Given the description of an element on the screen output the (x, y) to click on. 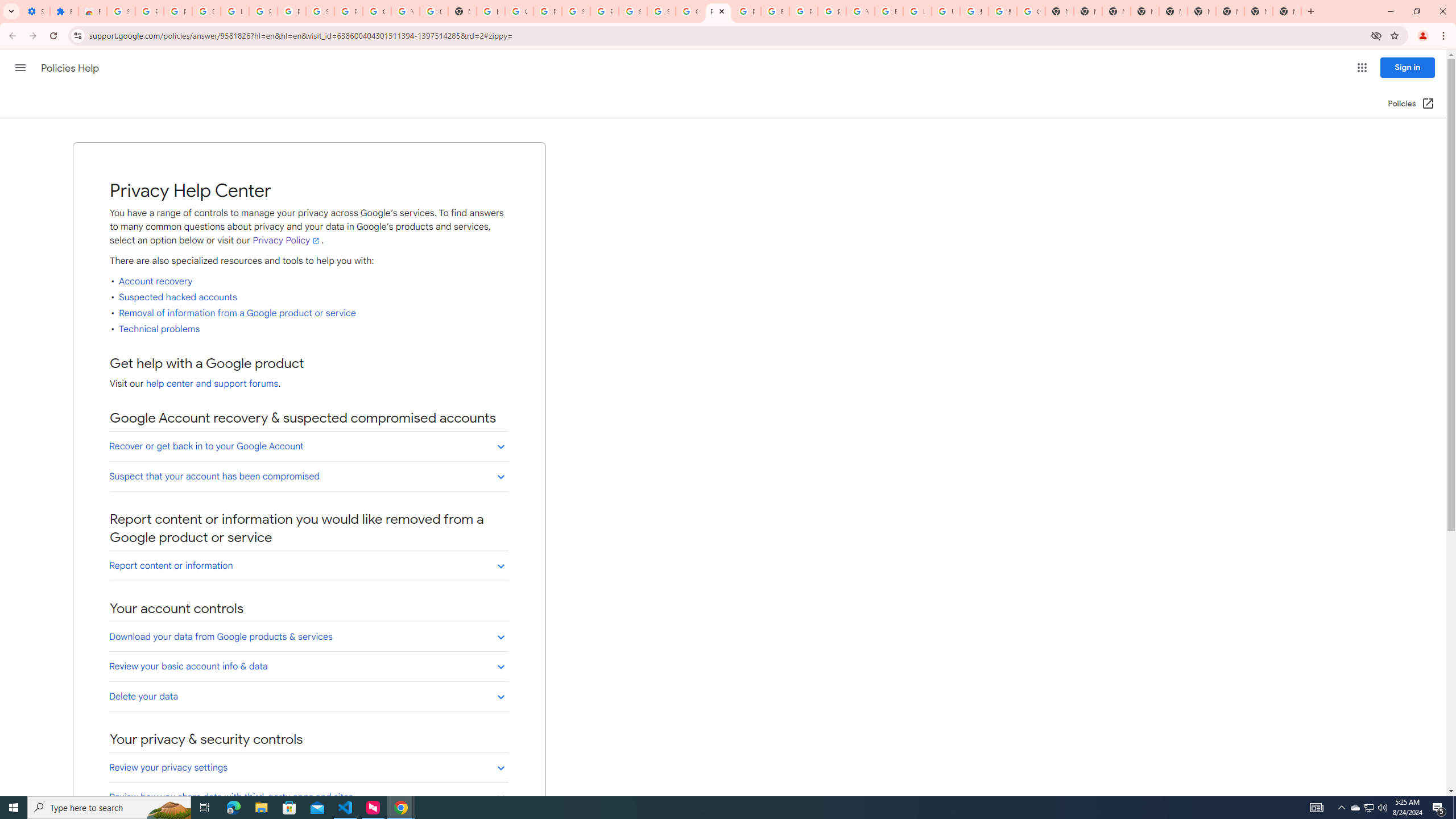
Review your basic account info & data (308, 666)
Removal of information from a Google product or service (237, 313)
New Tab (1230, 11)
Sign in - Google Accounts (661, 11)
https://scholar.google.com/ (490, 11)
Privacy Help Center - Policies Help (746, 11)
